Given the description of an element on the screen output the (x, y) to click on. 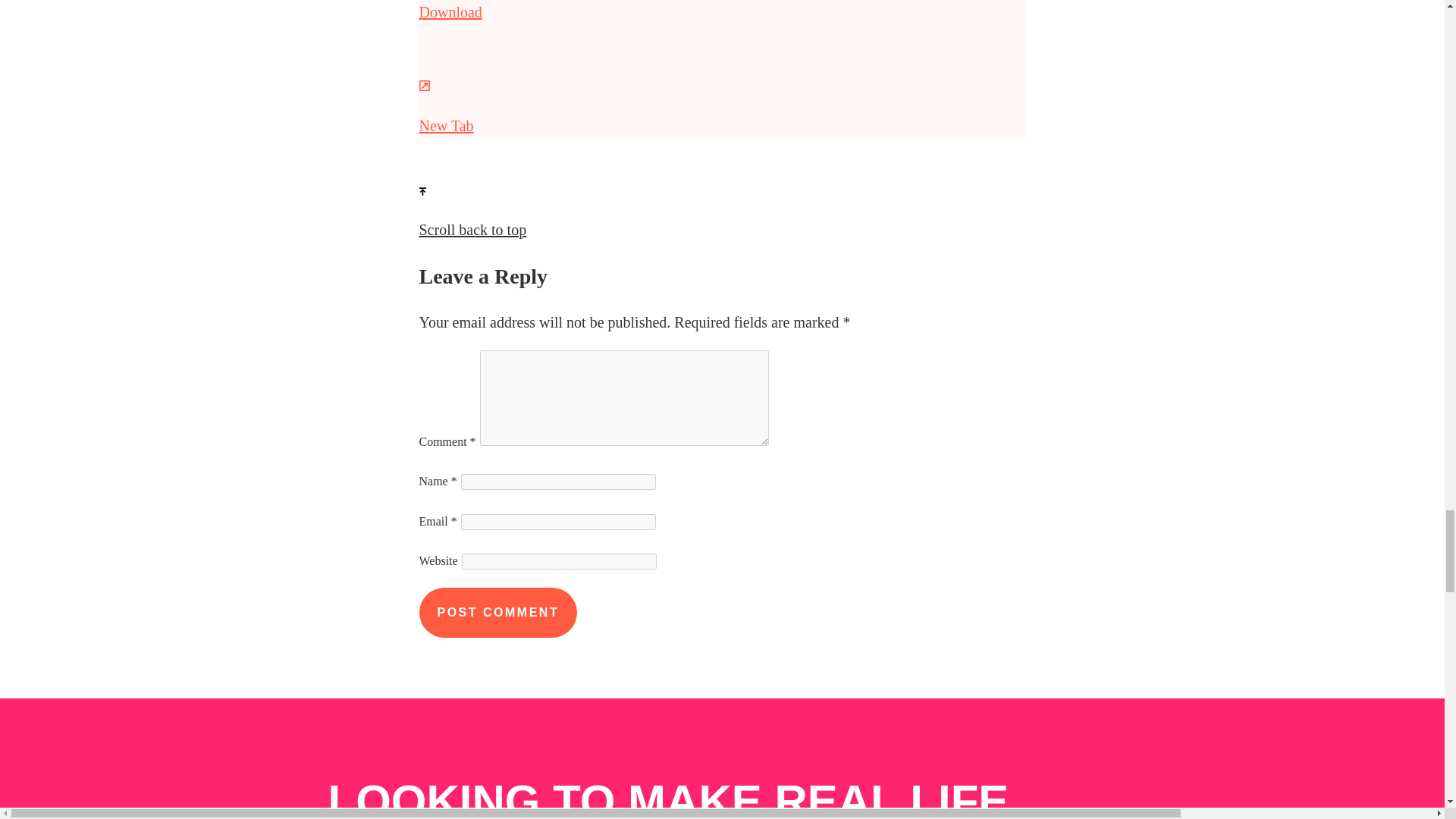
Post Comment (497, 613)
